Given the description of an element on the screen output the (x, y) to click on. 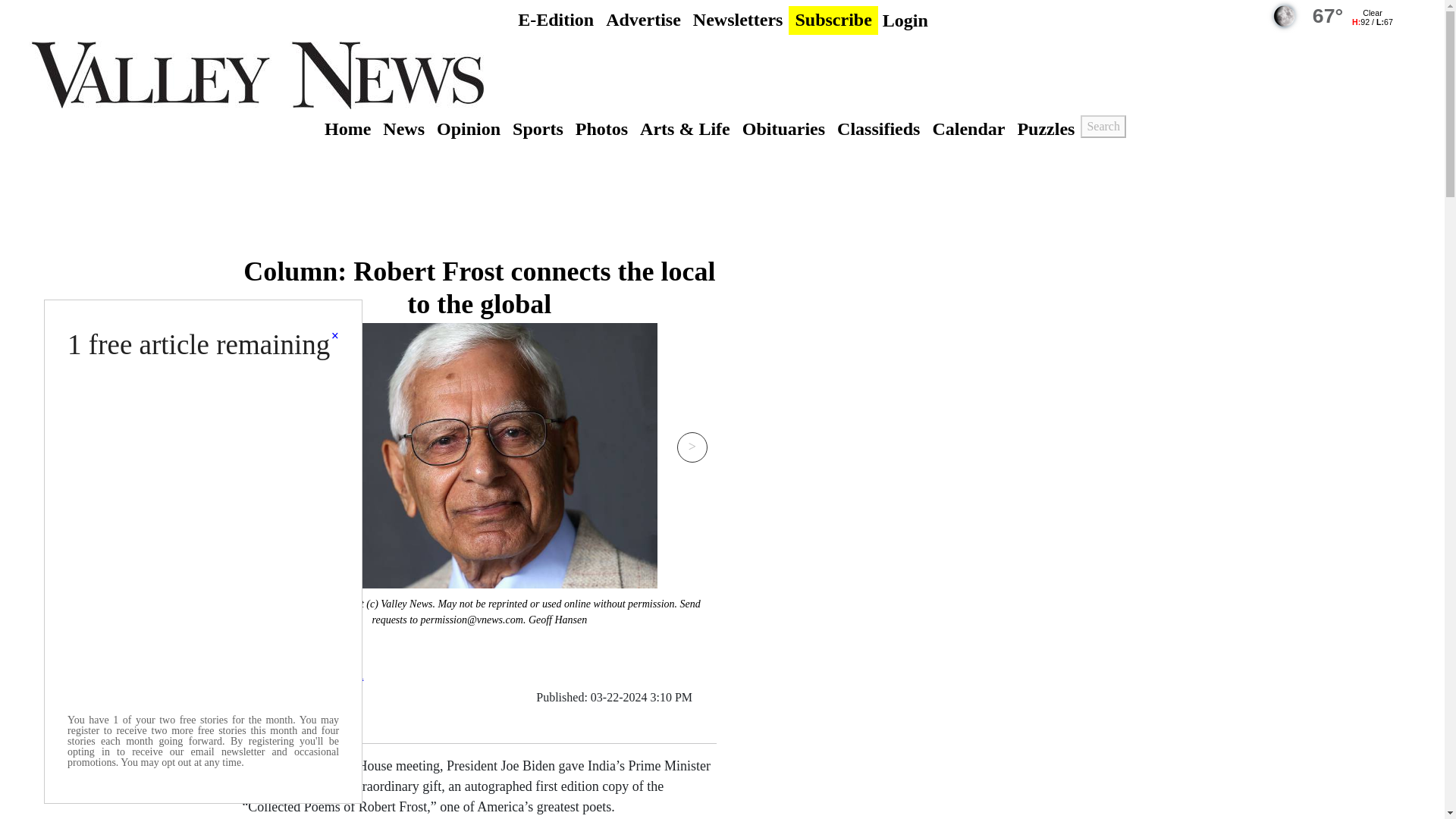
News (403, 128)
By NARAIN BATRA (302, 674)
Classifieds (878, 128)
Search (1102, 126)
Photos (601, 128)
Subscribe (833, 20)
Sports (537, 128)
Obituaries (783, 128)
Login (905, 20)
Opinion (468, 128)
E-Edition (555, 20)
Advertise (643, 20)
For the Valley News (298, 707)
Calendar (968, 128)
Puzzles (1045, 128)
